Given the description of an element on the screen output the (x, y) to click on. 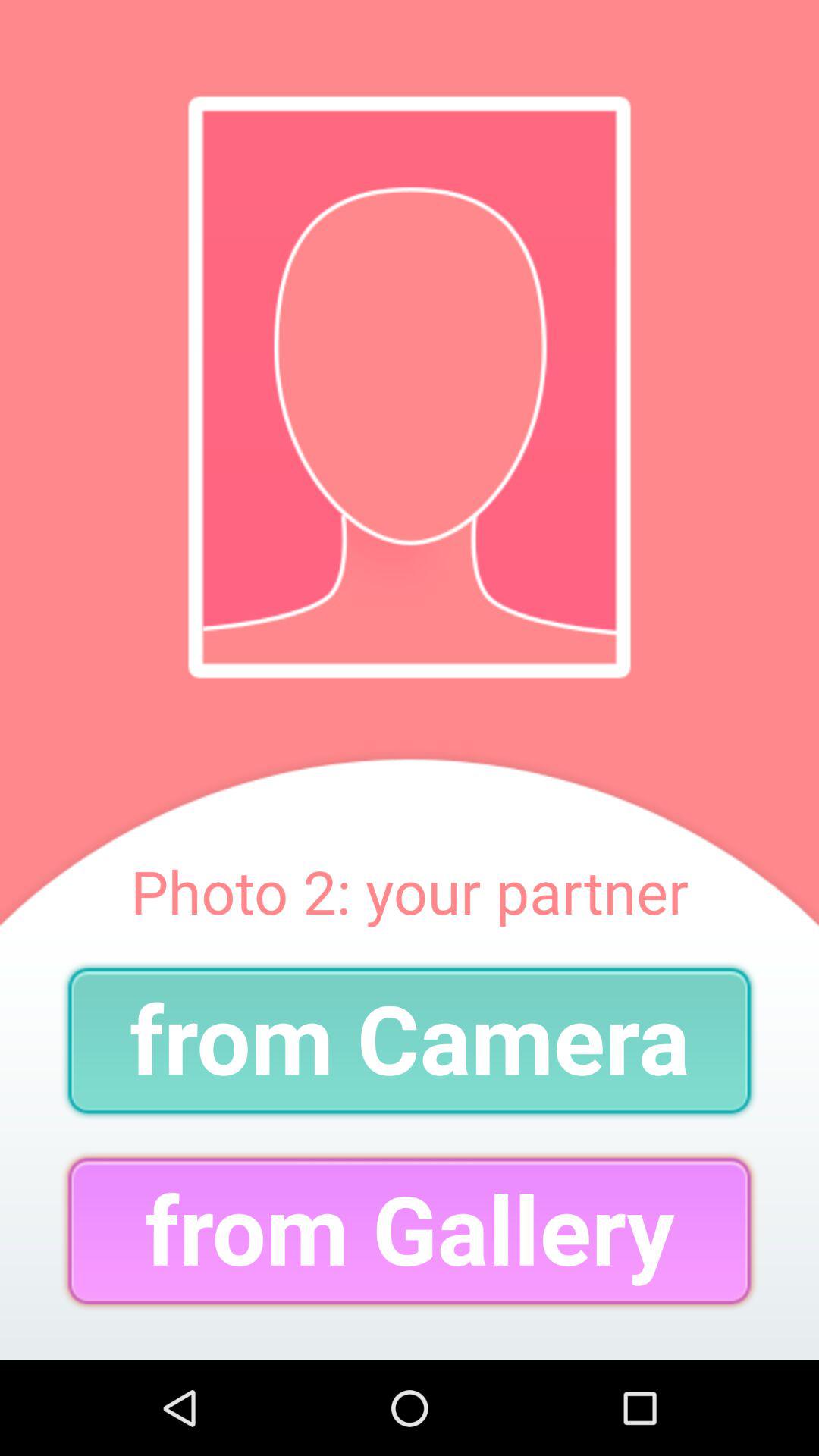
flip until from camera icon (409, 1040)
